Given the description of an element on the screen output the (x, y) to click on. 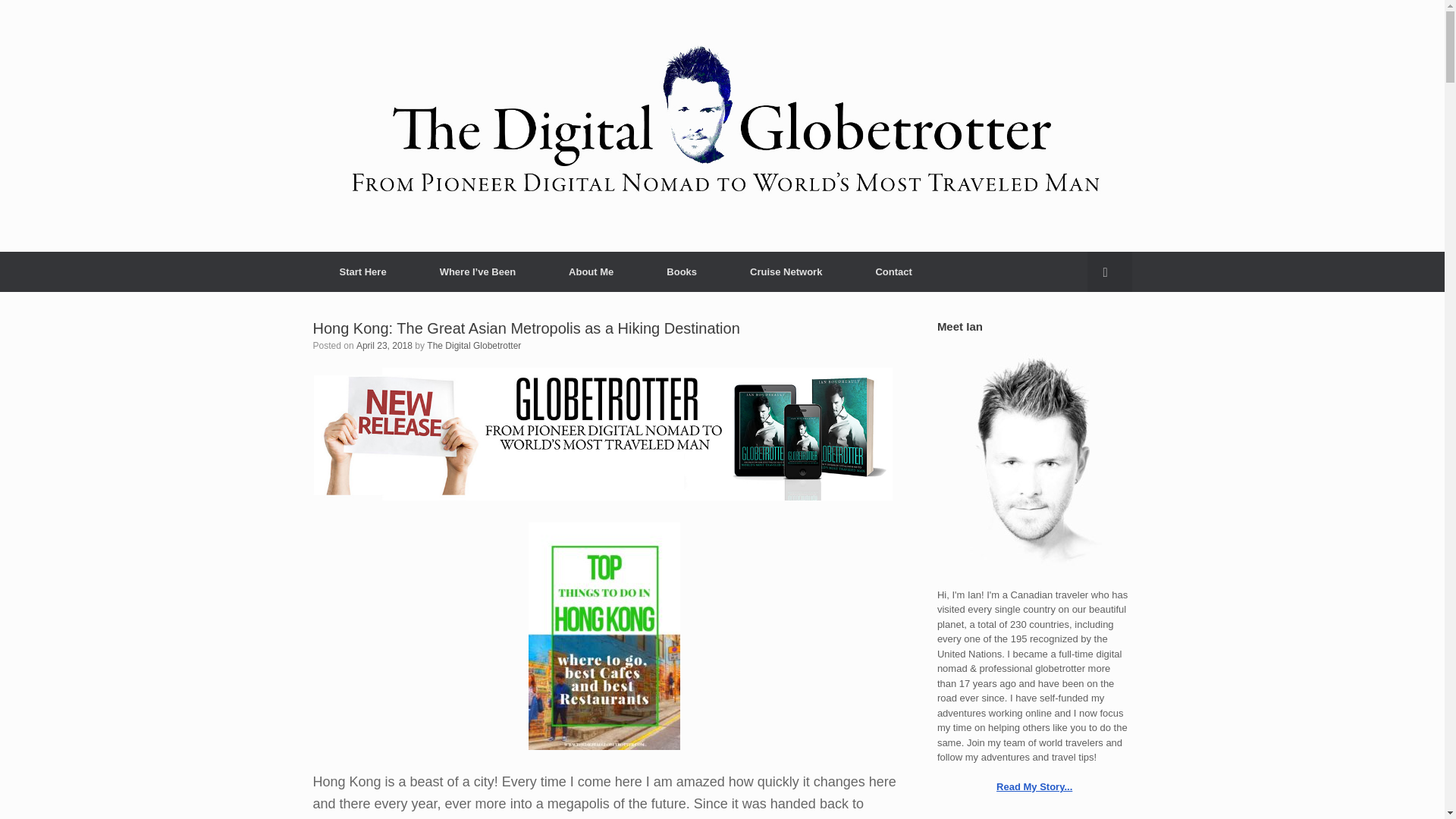
6:34 am (384, 345)
Start Here (362, 271)
Cruise Network (785, 271)
View all posts by The Digital Globetrotter (473, 345)
Books (681, 271)
About Me (590, 271)
